Given the description of an element on the screen output the (x, y) to click on. 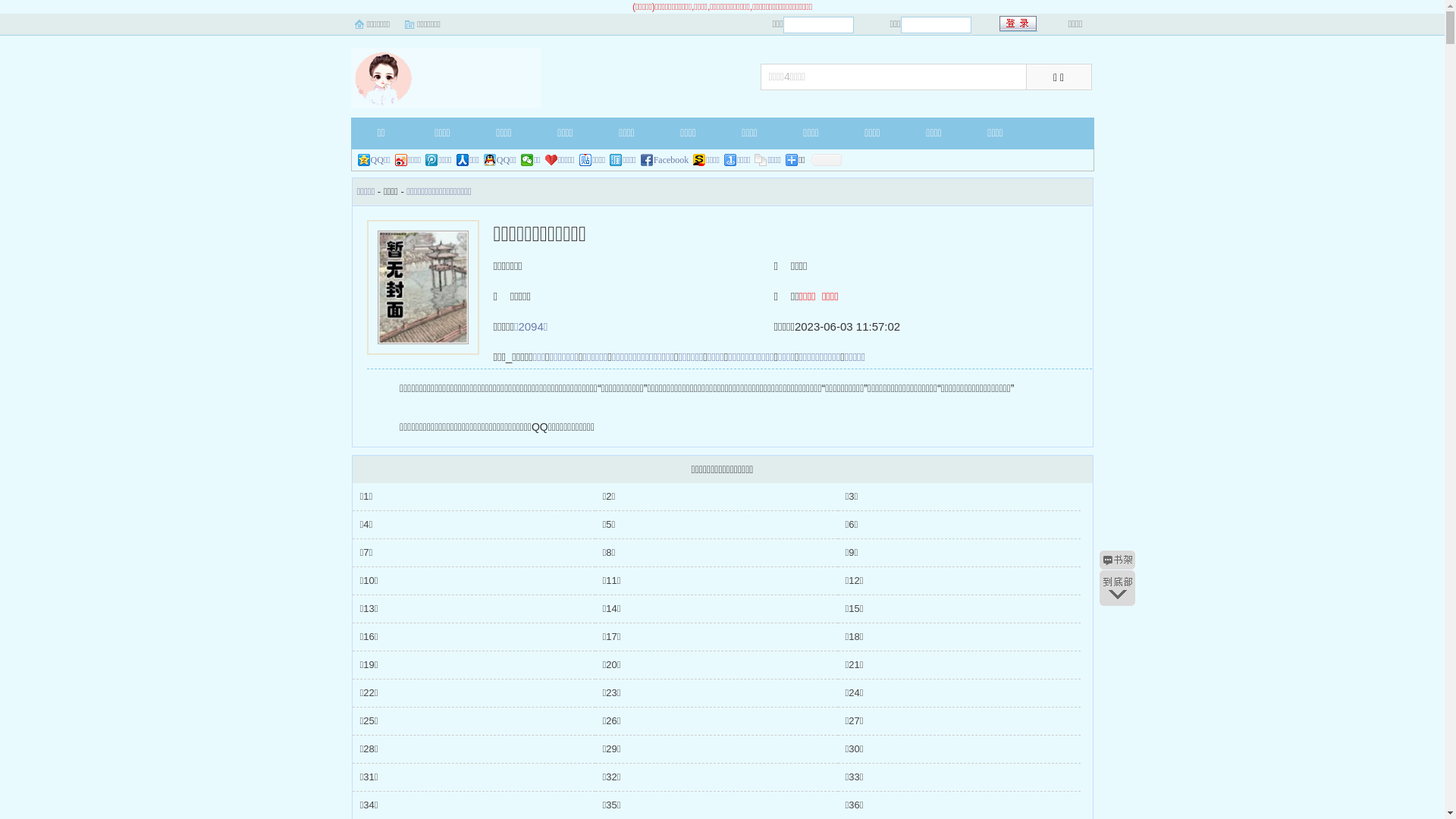
Facebook Element type: text (664, 159)
